Given the description of an element on the screen output the (x, y) to click on. 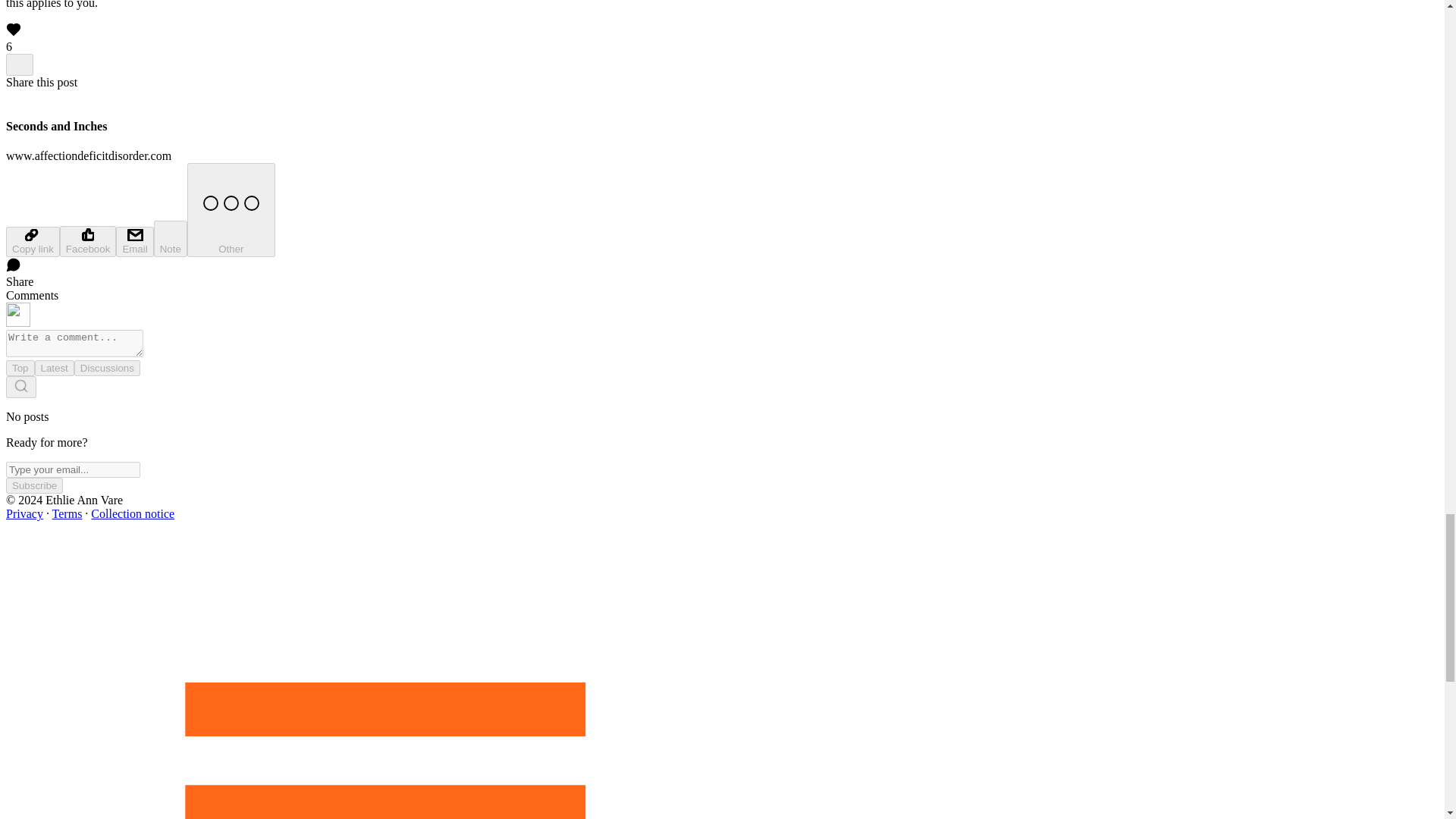
Terms (67, 513)
Other (231, 209)
Privacy (24, 513)
Facebook (87, 241)
Email (134, 241)
Discussions (106, 367)
Latest (54, 367)
Copy link (32, 241)
Note (170, 238)
Subscribe (33, 485)
Top (19, 367)
